Given the description of an element on the screen output the (x, y) to click on. 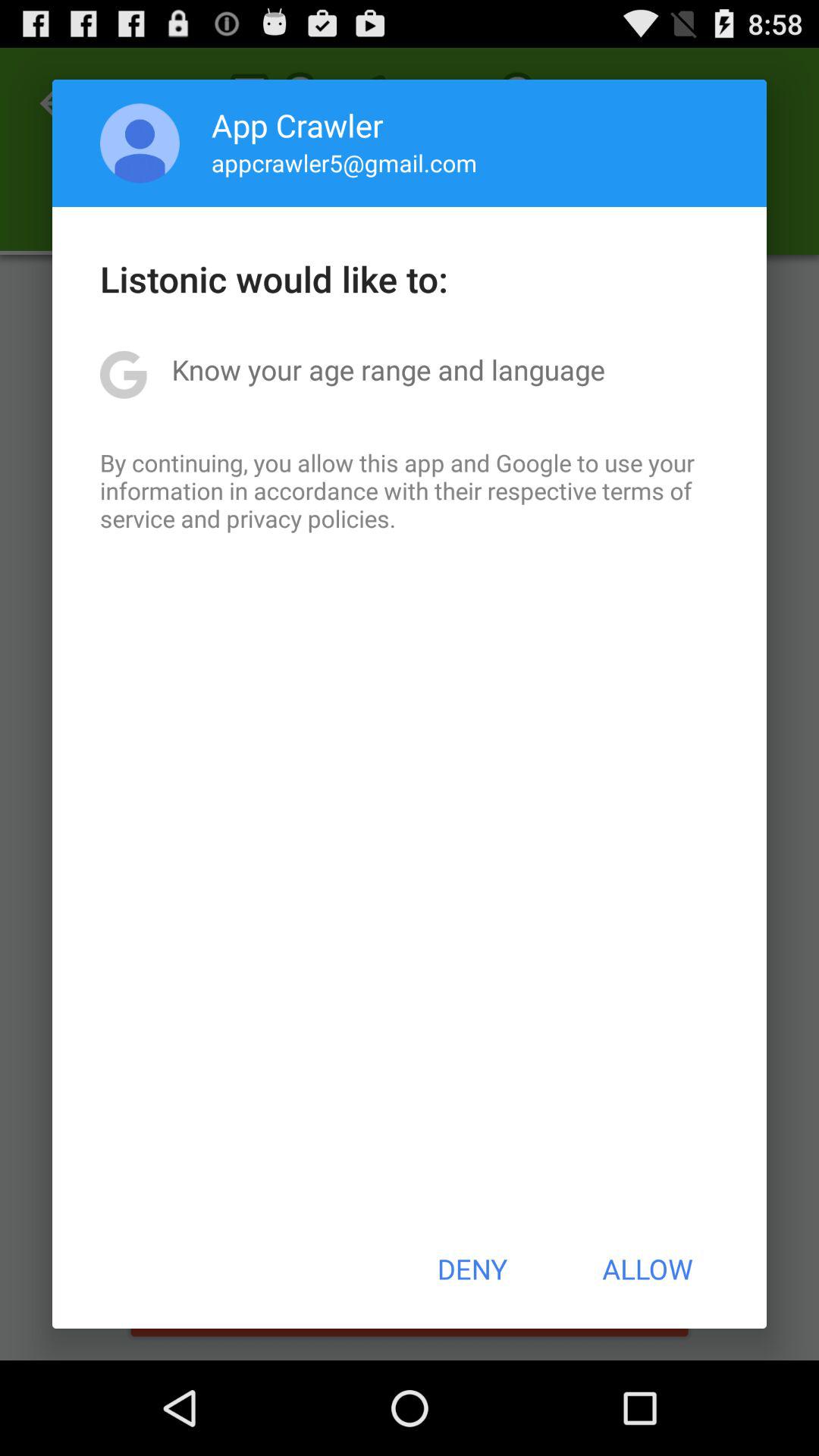
click the icon next to the app crawler icon (139, 143)
